Given the description of an element on the screen output the (x, y) to click on. 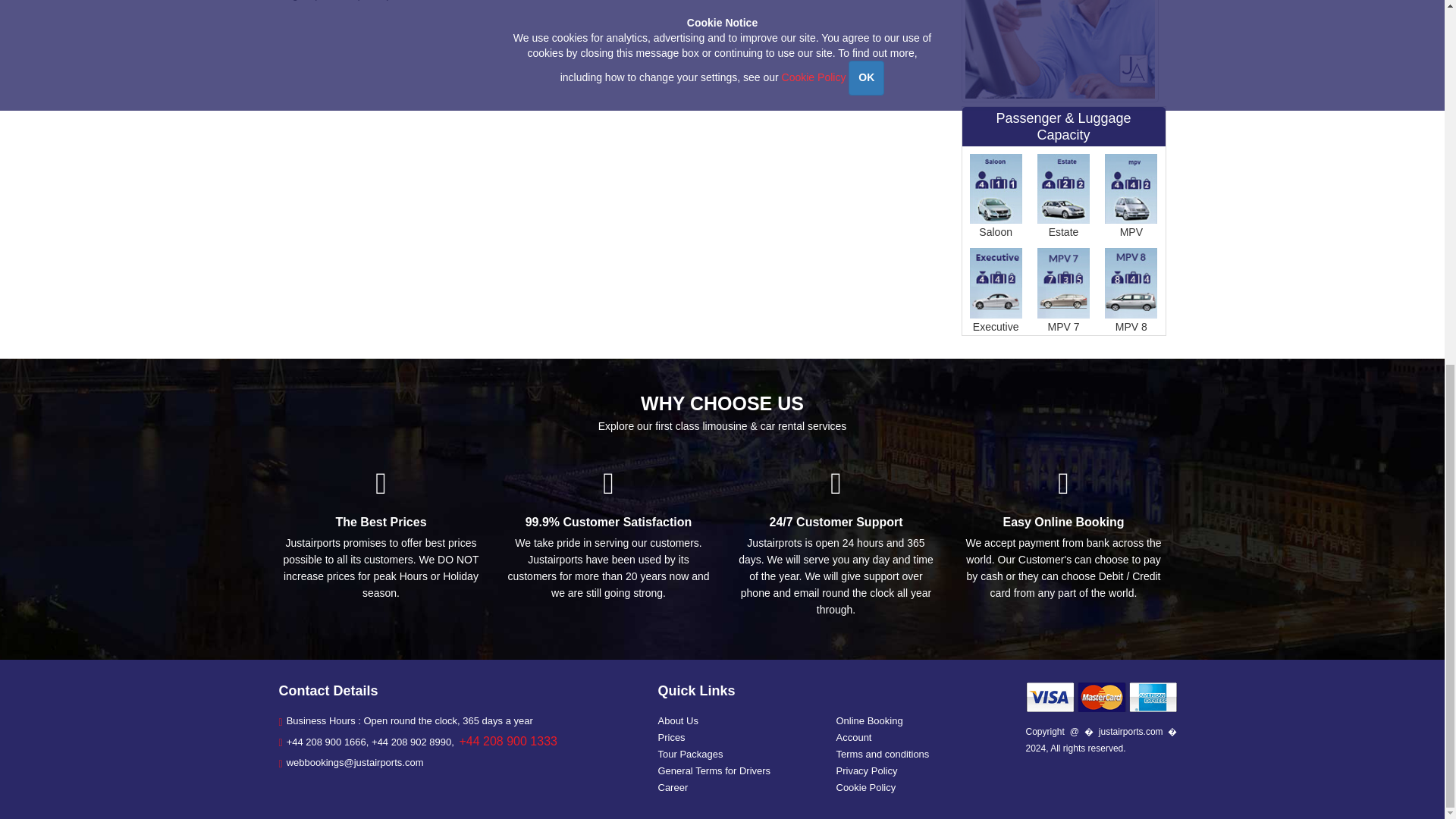
Saloon (994, 193)
Account (852, 737)
MPV (1130, 193)
Online Booking (868, 720)
MPV 7 (1063, 287)
About Us (678, 720)
MPV 8 (1130, 287)
Executive (994, 287)
Prices (671, 737)
Estate (1063, 193)
